Given the description of an element on the screen output the (x, y) to click on. 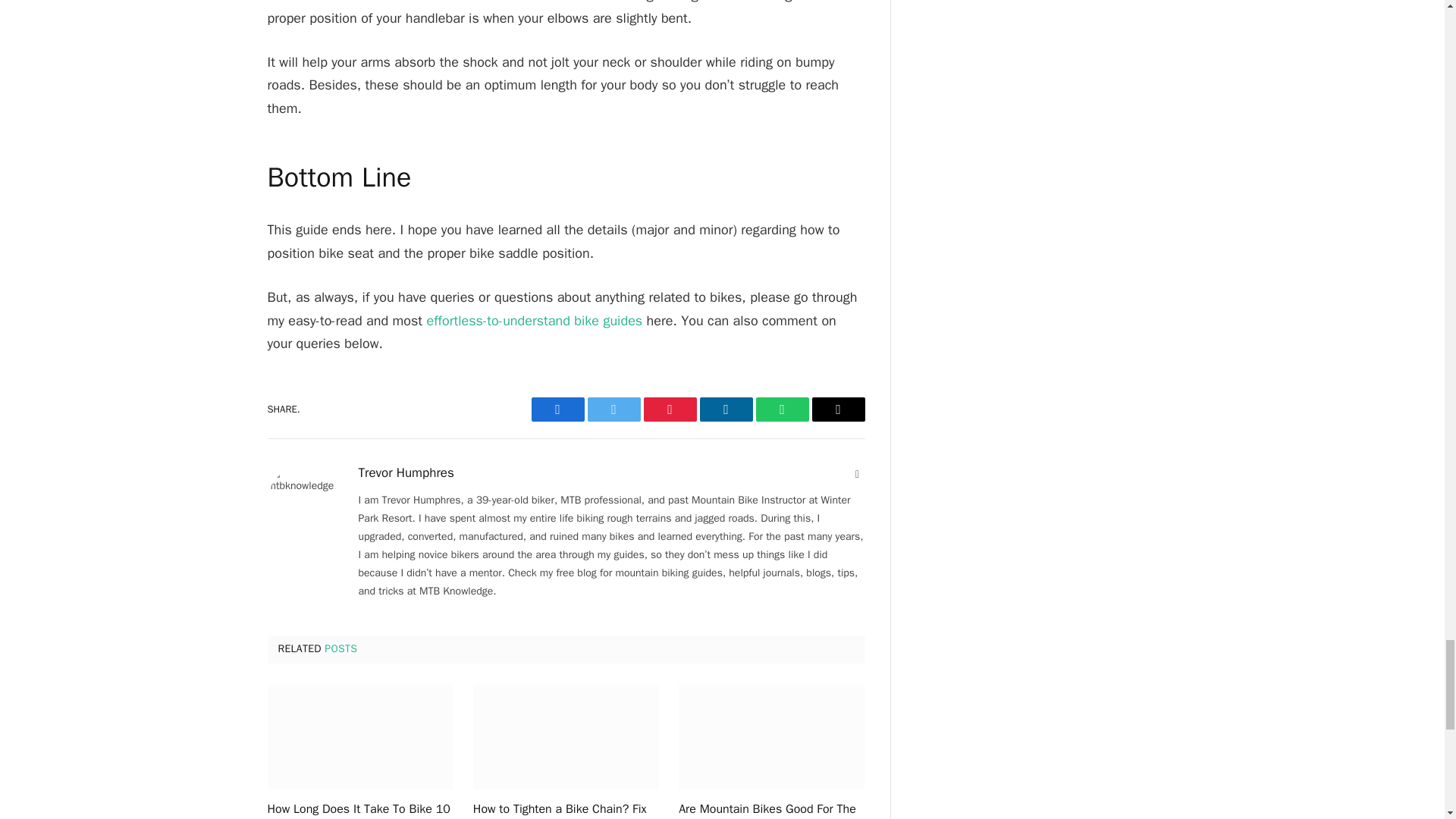
Facebook (557, 409)
Pinterest (669, 409)
Twitter (613, 409)
effortless-to-understand bike guides (534, 320)
